Given the description of an element on the screen output the (x, y) to click on. 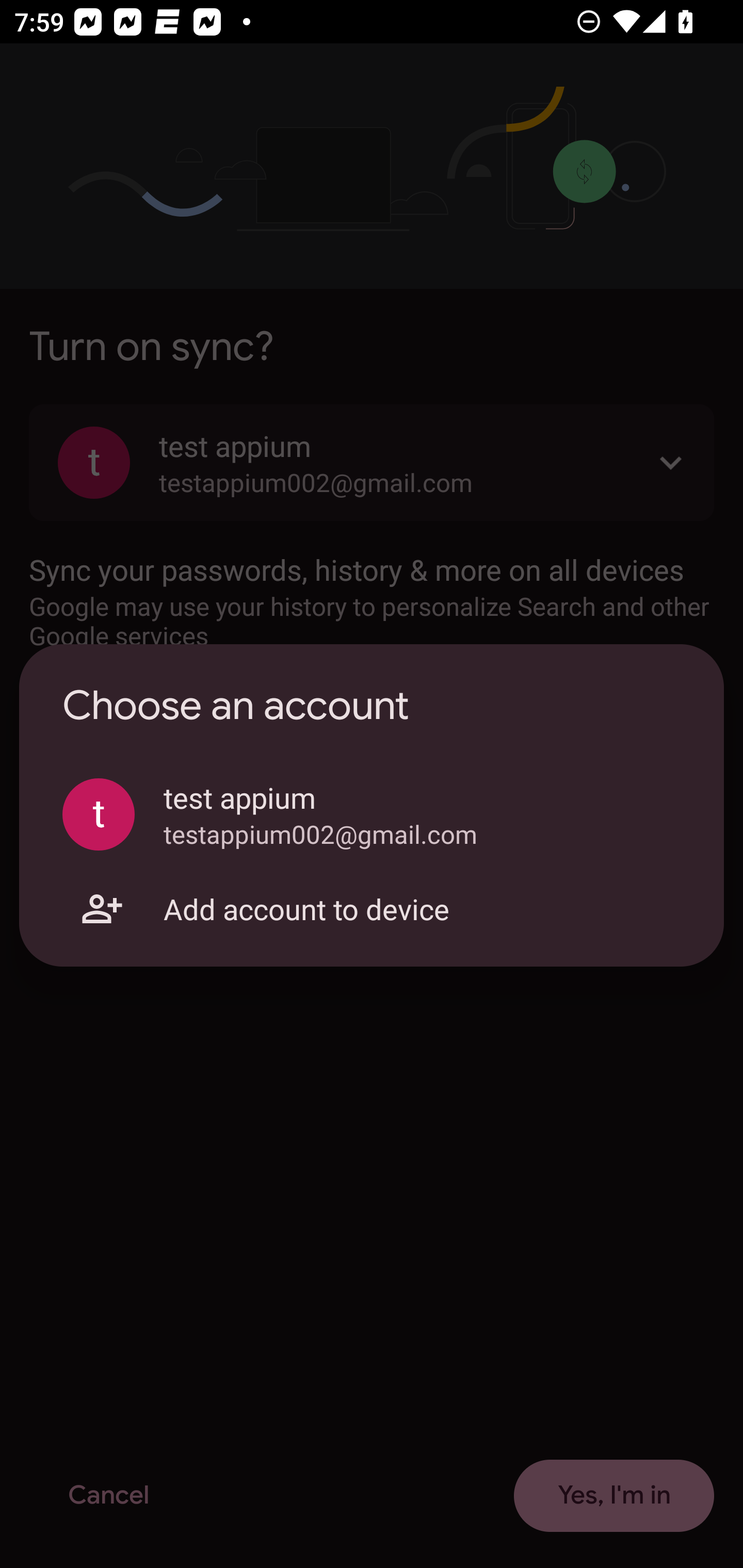
Add account to device (371, 908)
